Given the description of an element on the screen output the (x, y) to click on. 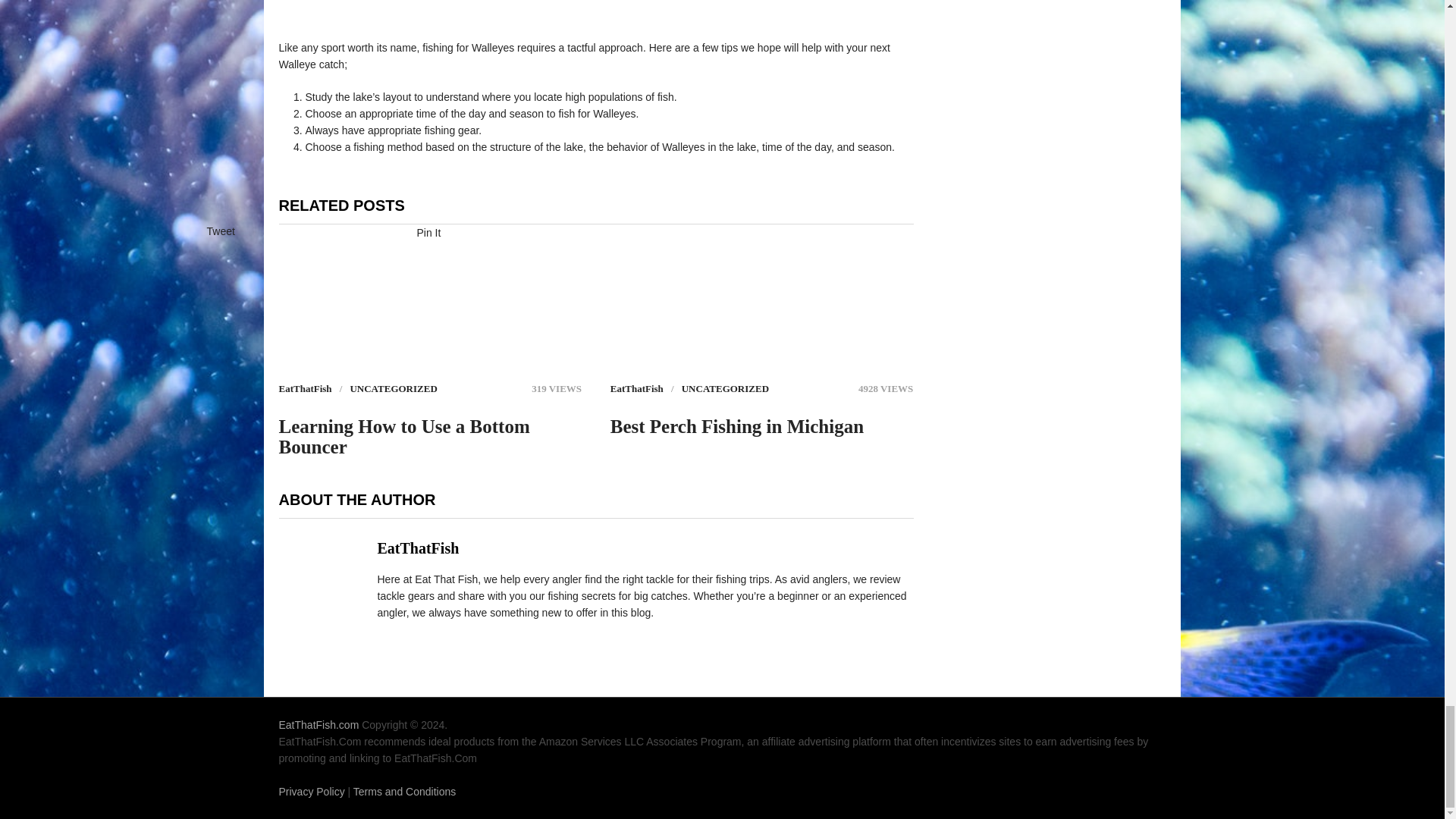
View all posts in Uncategorized (392, 388)
Best Perch Fishing in Michigan (736, 426)
Learning How to Use a Bottom Bouncer (430, 436)
Posts by EatThatFish (305, 388)
View all posts in Uncategorized (724, 388)
Posts by EatThatFish (636, 388)
